Given the description of an element on the screen output the (x, y) to click on. 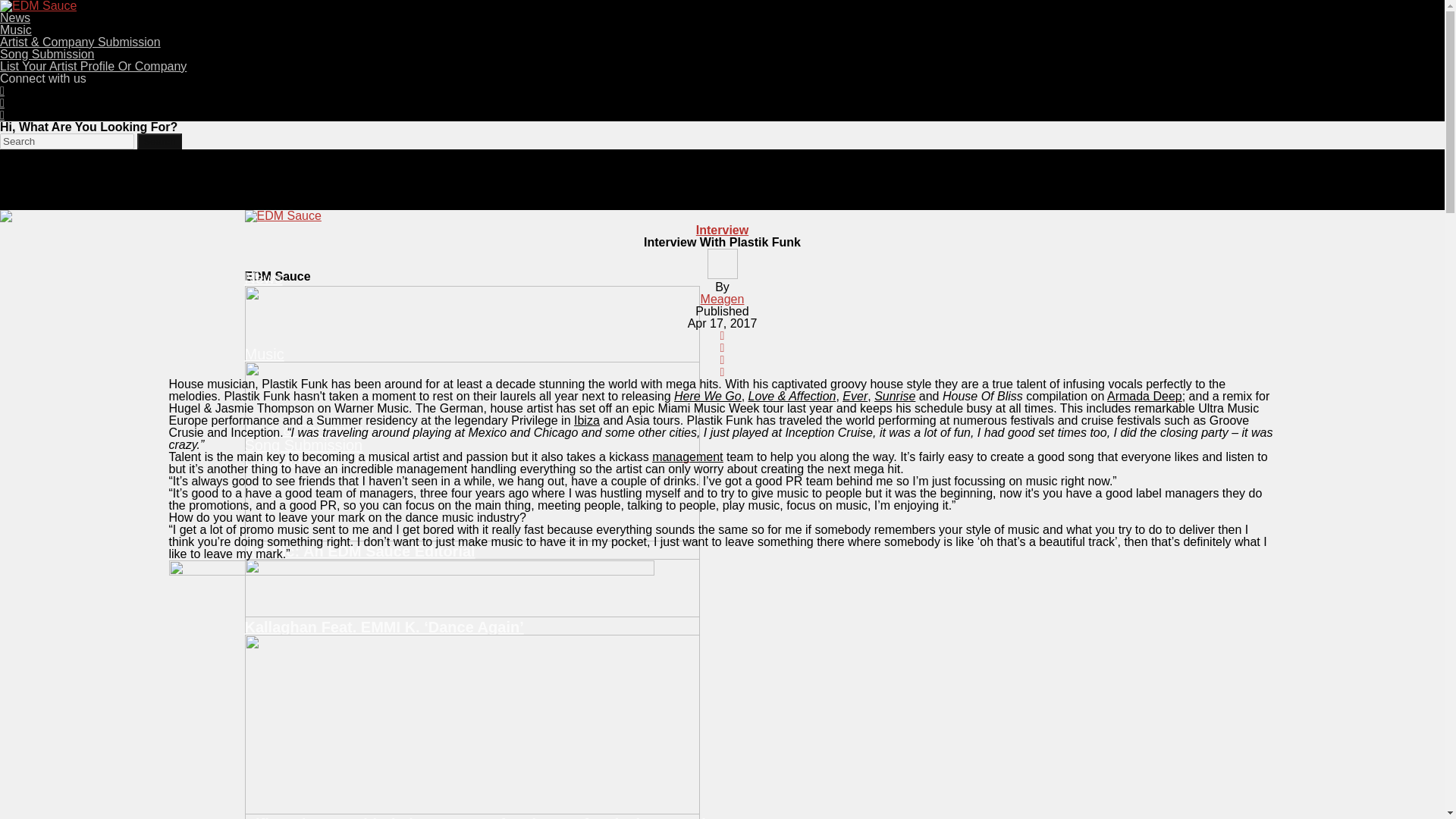
Search (66, 141)
List Your Artist Profile Or Company (93, 65)
Song Submission (47, 53)
Song Submission (303, 444)
List Your Artist Profile Or Company (360, 460)
Search (158, 141)
Music (16, 29)
Search (158, 141)
News (15, 17)
